Given the description of an element on the screen output the (x, y) to click on. 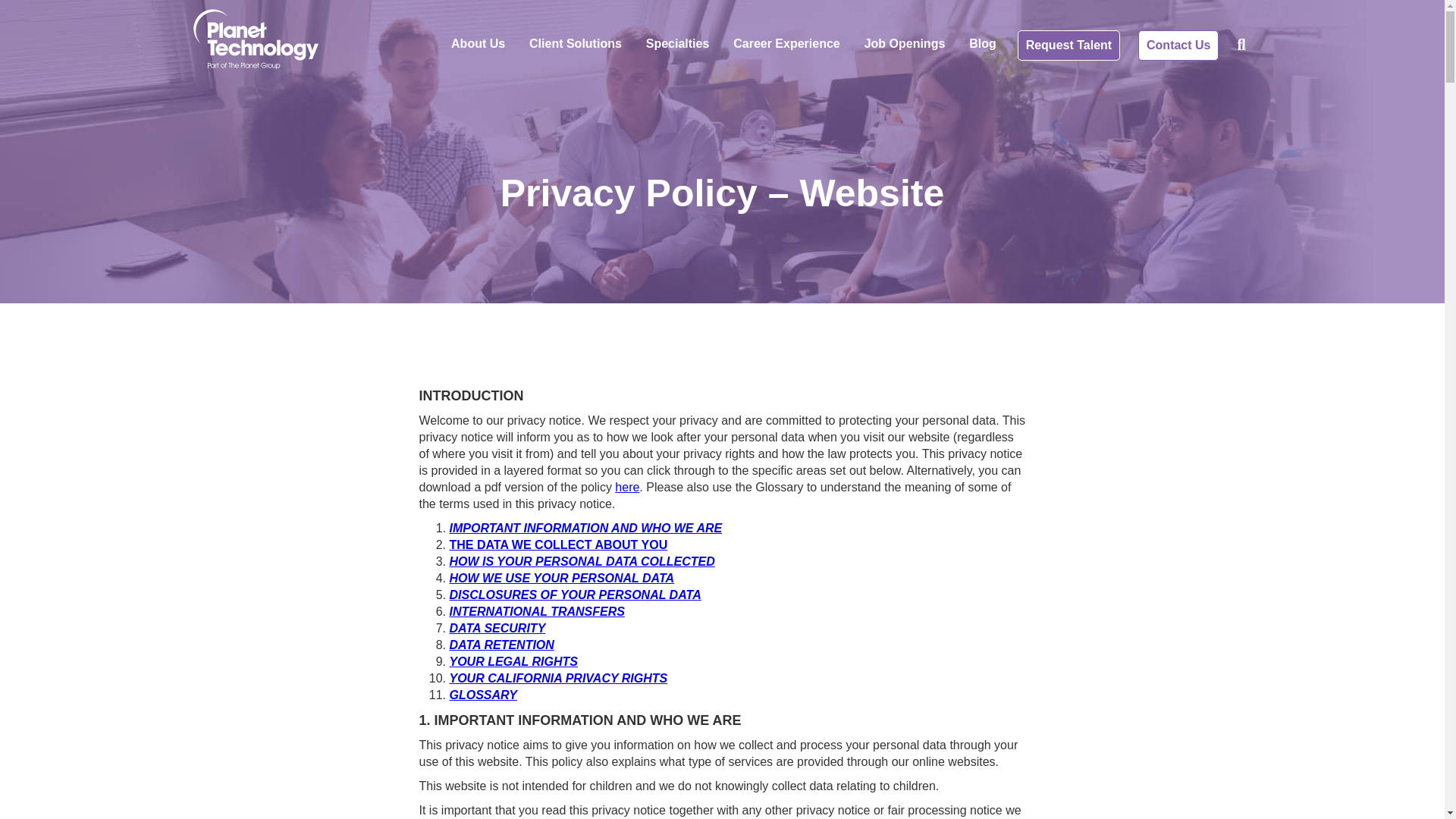
Request Talent (1069, 45)
About Us (478, 43)
Job Openings (904, 43)
Career Experience (786, 43)
Specialties (678, 43)
Client Solutions (575, 43)
Contact Us (1178, 45)
Blog (982, 43)
